Given the description of an element on the screen output the (x, y) to click on. 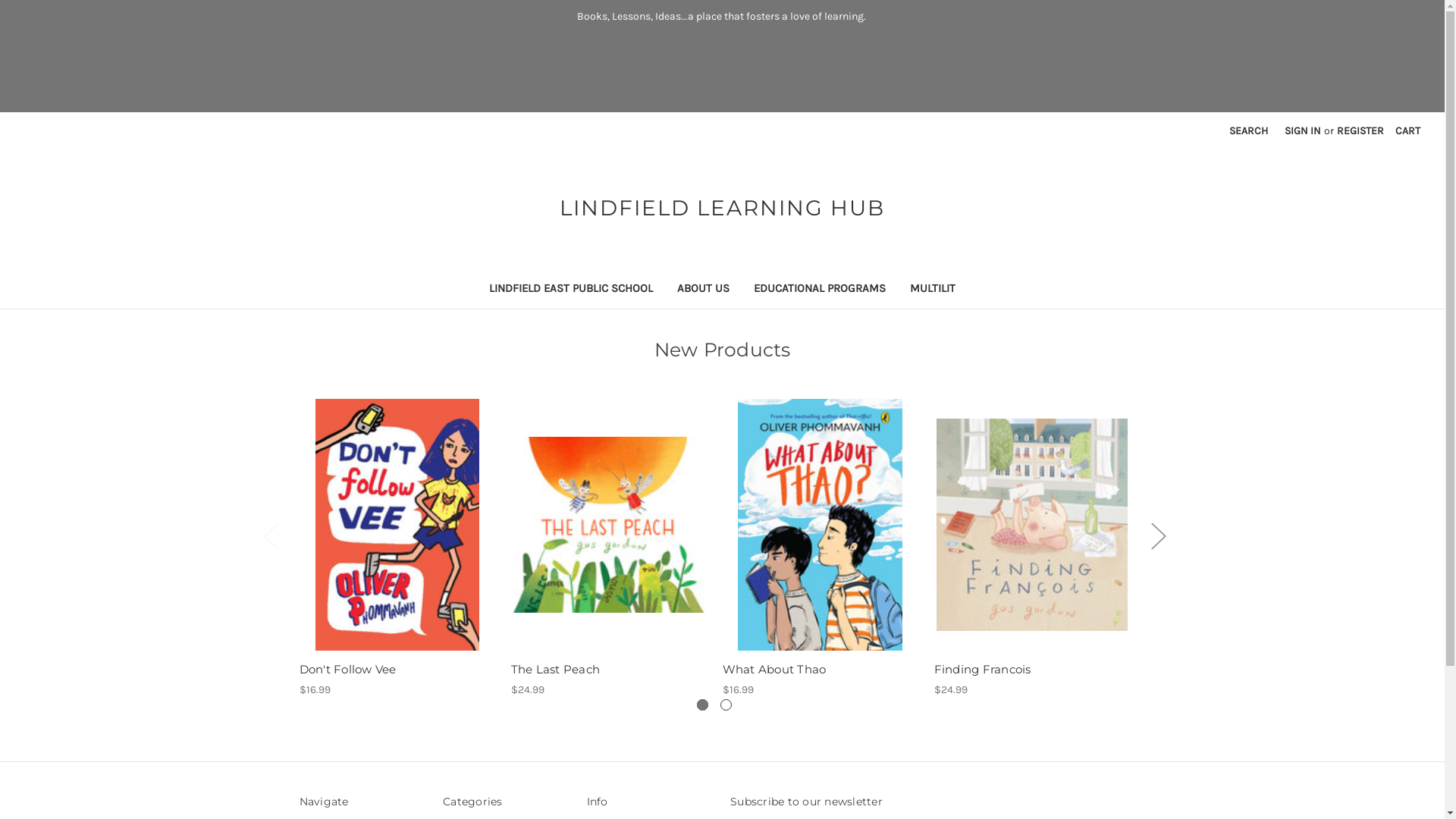
The Last Peach Element type: text (608, 669)
MULTILIT Element type: text (932, 289)
Previous Element type: text (270, 535)
The Last Peach Element type: hover (607, 524)
LINDFIELD EAST PUBLIC SCHOOL Element type: text (570, 289)
Don't Follow Vee Element type: hover (396, 524)
ABOUT US Element type: text (703, 289)
LINDFIELD LEARNING HUB Element type: text (722, 207)
SIGN IN Element type: text (1302, 130)
Finding Francois Element type: hover (1030, 524)
EDUCATIONAL PROGRAMS Element type: text (819, 289)
Don't Follow Vee Element type: text (396, 669)
What About Thao Element type: text (819, 669)
What About Thao Element type: hover (820, 524)
REGISTER Element type: text (1360, 130)
Finding Francois Element type: text (1031, 669)
CART Element type: text (1407, 130)
Next Element type: text (1157, 535)
SEARCH Element type: text (1248, 130)
